Given the description of an element on the screen output the (x, y) to click on. 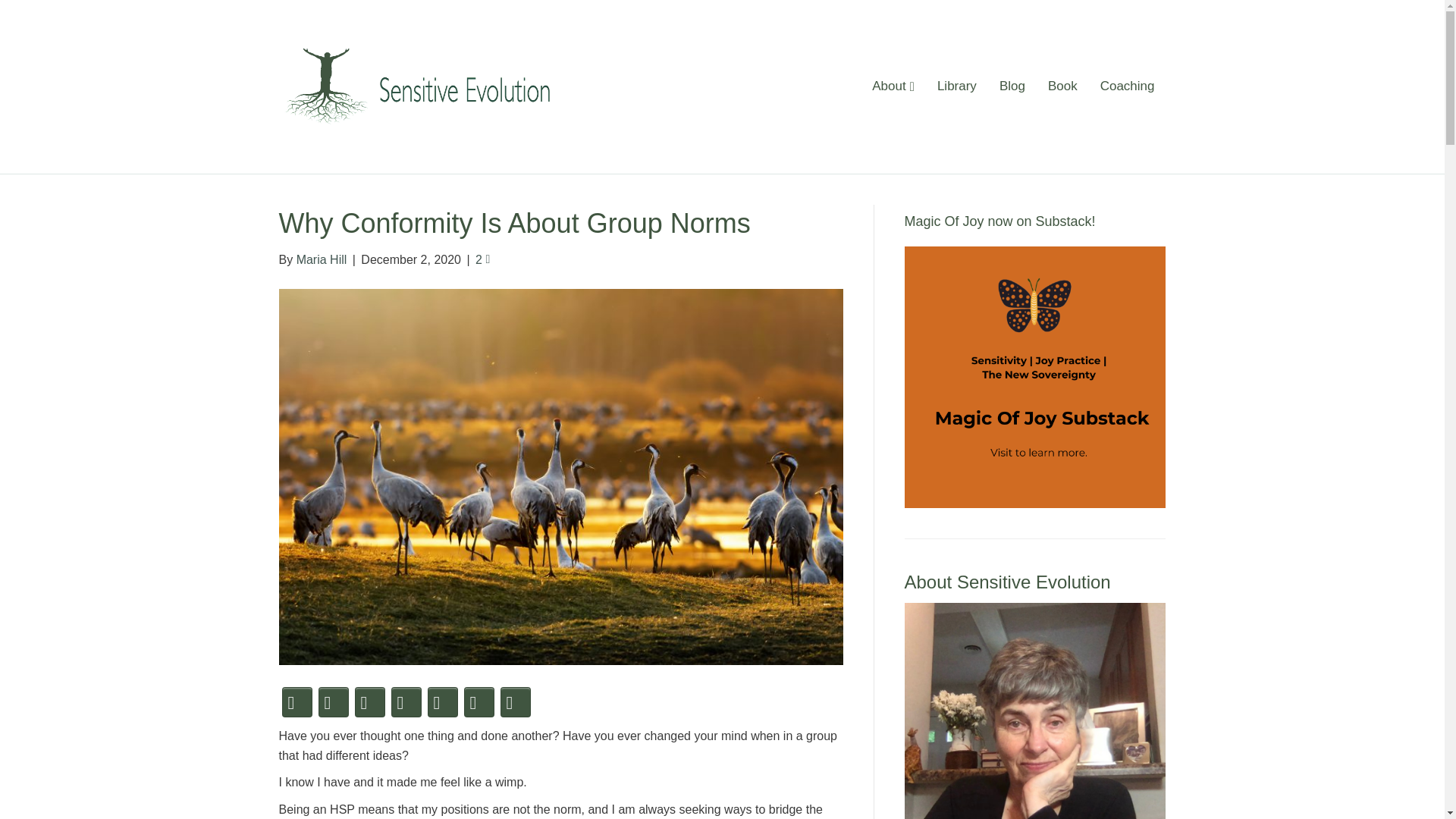
WhatsApp (479, 701)
2 (482, 259)
Coaching (1127, 86)
Facebook (297, 701)
About (893, 86)
Email This (443, 701)
Maria Hill (1035, 710)
LinkedIn (370, 701)
Maria Hill (322, 259)
align center (1035, 376)
More Options (515, 701)
Pinterest (406, 701)
Book (1062, 86)
Blog (1012, 86)
Library (957, 86)
